Given the description of an element on the screen output the (x, y) to click on. 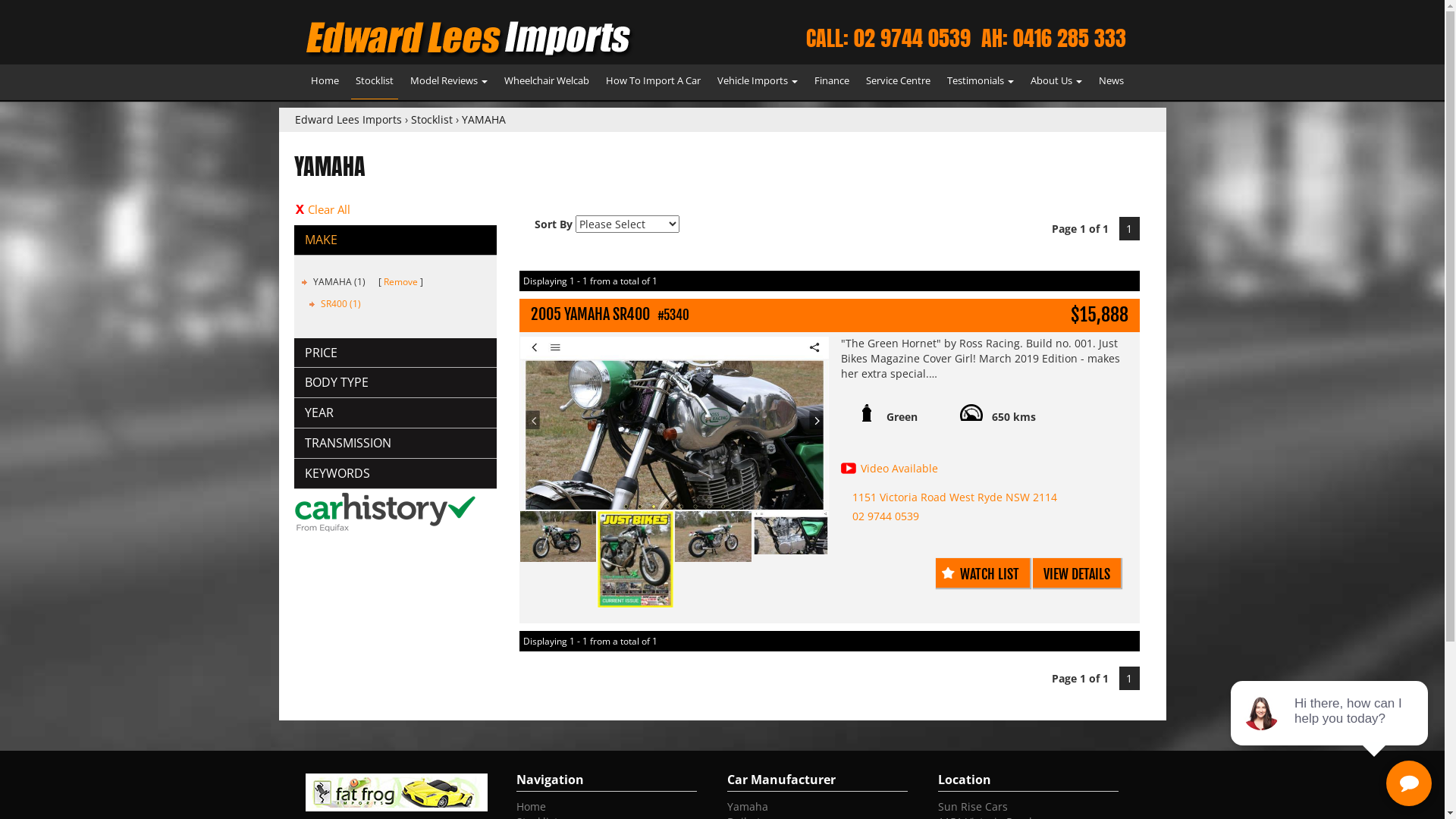
AH: 0416 285 333 Element type: text (1053, 37)
2005-YAMAHA-SR400 Element type: hover (790, 532)
VIEW DETAILS Element type: text (1076, 572)
Finance Element type: text (831, 82)
Remove Element type: text (400, 281)
Stocklist Element type: text (431, 119)
2005-YAMAHA-SR400 Element type: hover (712, 536)
Model Reviews Element type: text (447, 82)
2005-YAMAHA-SR400 Element type: hover (635, 559)
2005-YAMAHA-SR400 Element type: hover (557, 536)
News Element type: text (1110, 82)
Edward Lees Imports Element type: text (347, 119)
02 9744 0539 Element type: text (885, 515)
SR400 (1) Element type: text (340, 303)
WATCH LIST Element type: text (982, 572)
1151 Victoria Road West Ryde NSW 2114 Element type: text (954, 496)
About Us Element type: text (1055, 82)
Service Centre Element type: text (898, 82)
Clear All Element type: text (395, 209)
YAMAHA Element type: text (483, 119)
How To Import A Car Element type: text (652, 82)
Yamaha Element type: text (746, 806)
Wheelchair Welcab Element type: text (545, 82)
1 Element type: text (1129, 678)
Vehicle Imports Element type: text (757, 82)
Video Available Element type: text (899, 468)
Home Element type: text (324, 82)
Home Element type: text (530, 806)
Testimonials Element type: text (979, 82)
2005-YAMAHA-SR400 Element type: hover (674, 422)
1 Element type: text (1129, 228)
CALL: 02 9744 0539 Element type: text (887, 37)
$15,888 Element type: text (1099, 314)
2005 YAMAHA SR400 #5340 Element type: text (751, 314)
Stocklist Element type: text (373, 82)
